Given the description of an element on the screen output the (x, y) to click on. 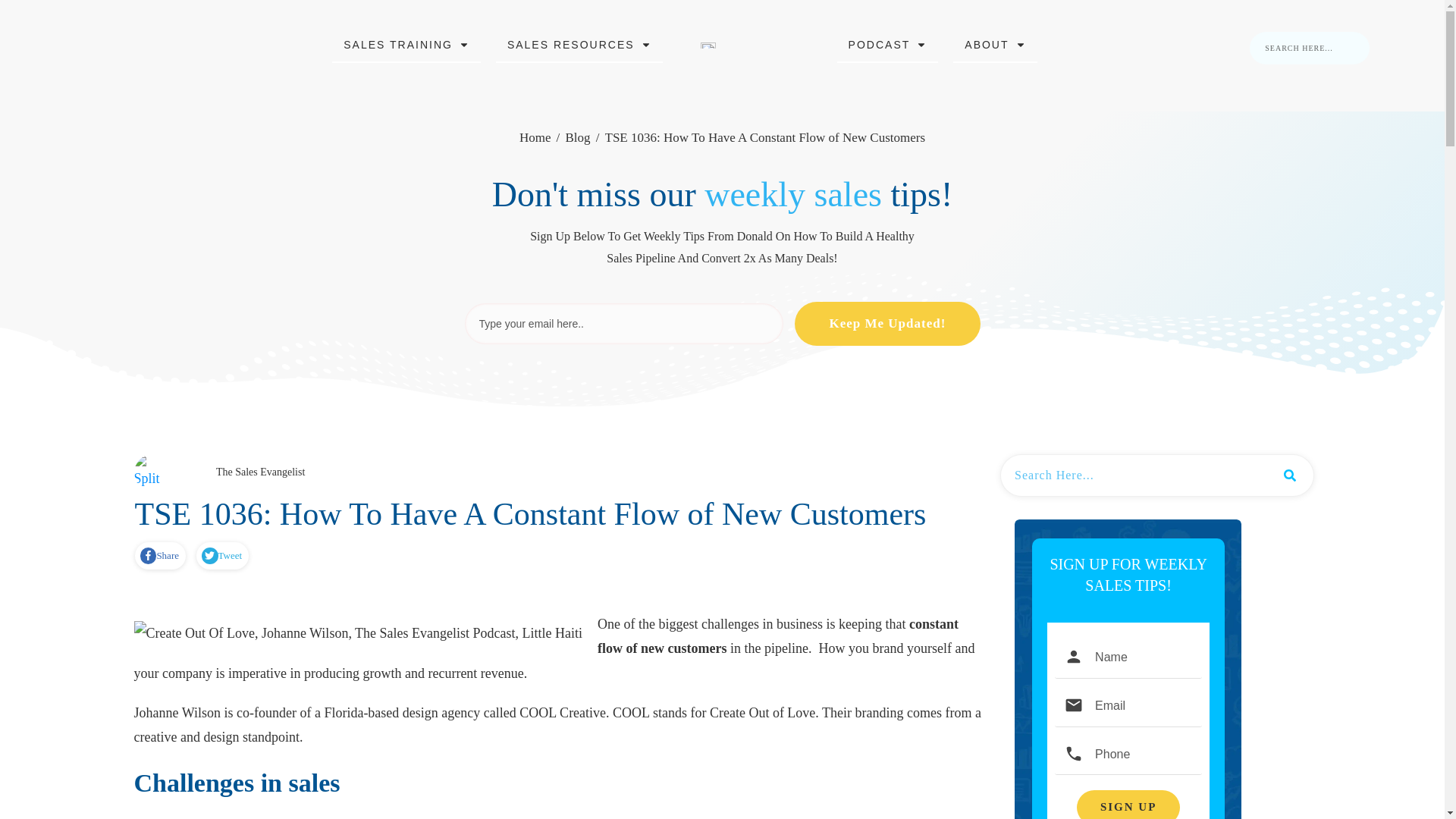
TSE 1036: How To Have A Constant Flow of New Customers (530, 513)
ABOUT (994, 44)
SALES TRAINING (405, 44)
Home (535, 137)
TSE 1036: How To Have A Constant Flow of New Customers (530, 513)
Keep Me Updated! (886, 323)
SALES RESOURCES (578, 44)
Blog (576, 137)
Tweet (221, 555)
PODCAST (887, 44)
Split Top With Sidebar (151, 472)
Share (159, 555)
